Given the description of an element on the screen output the (x, y) to click on. 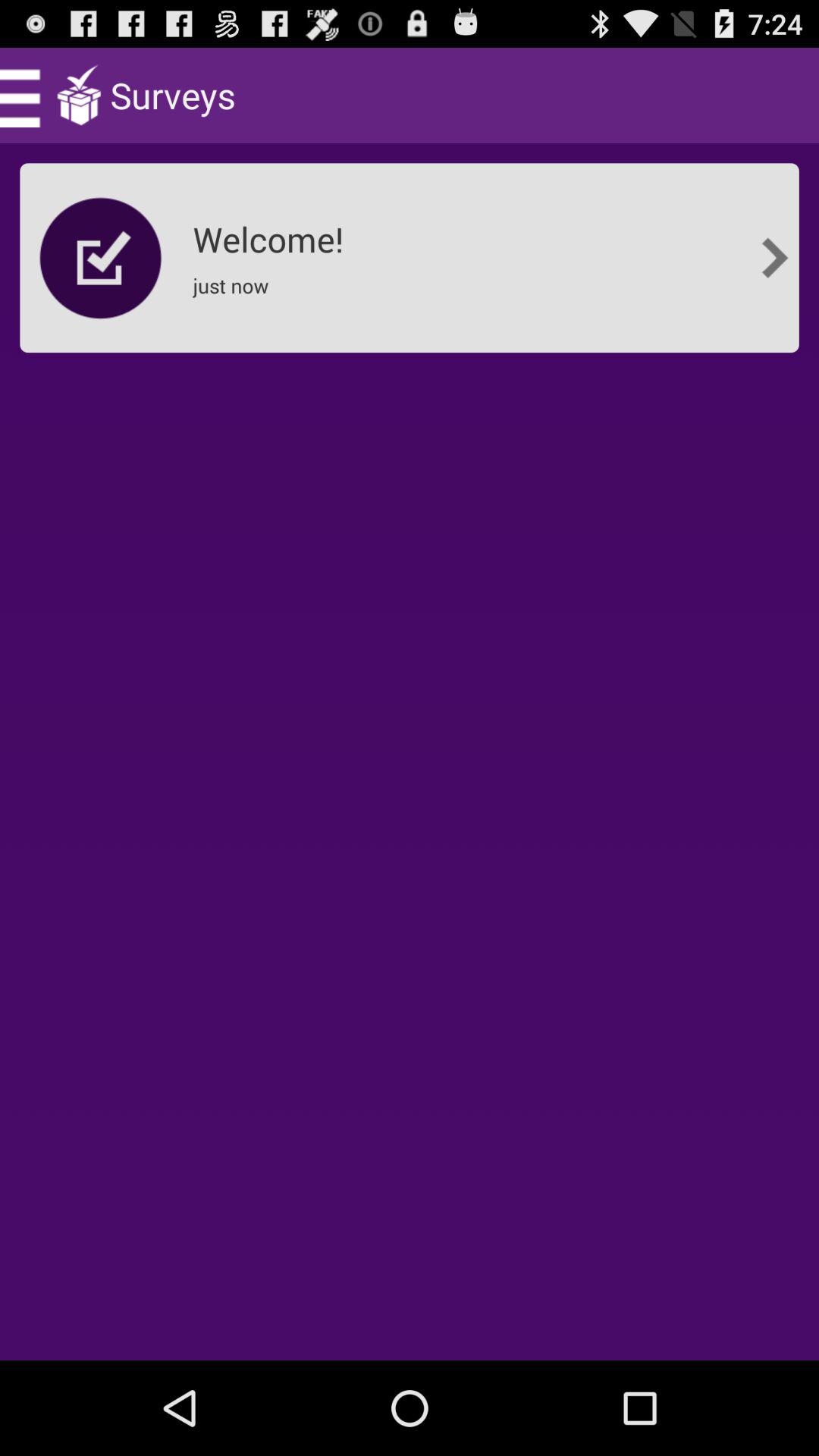
turn on icon next to the welcome! (774, 257)
